Given the description of an element on the screen output the (x, y) to click on. 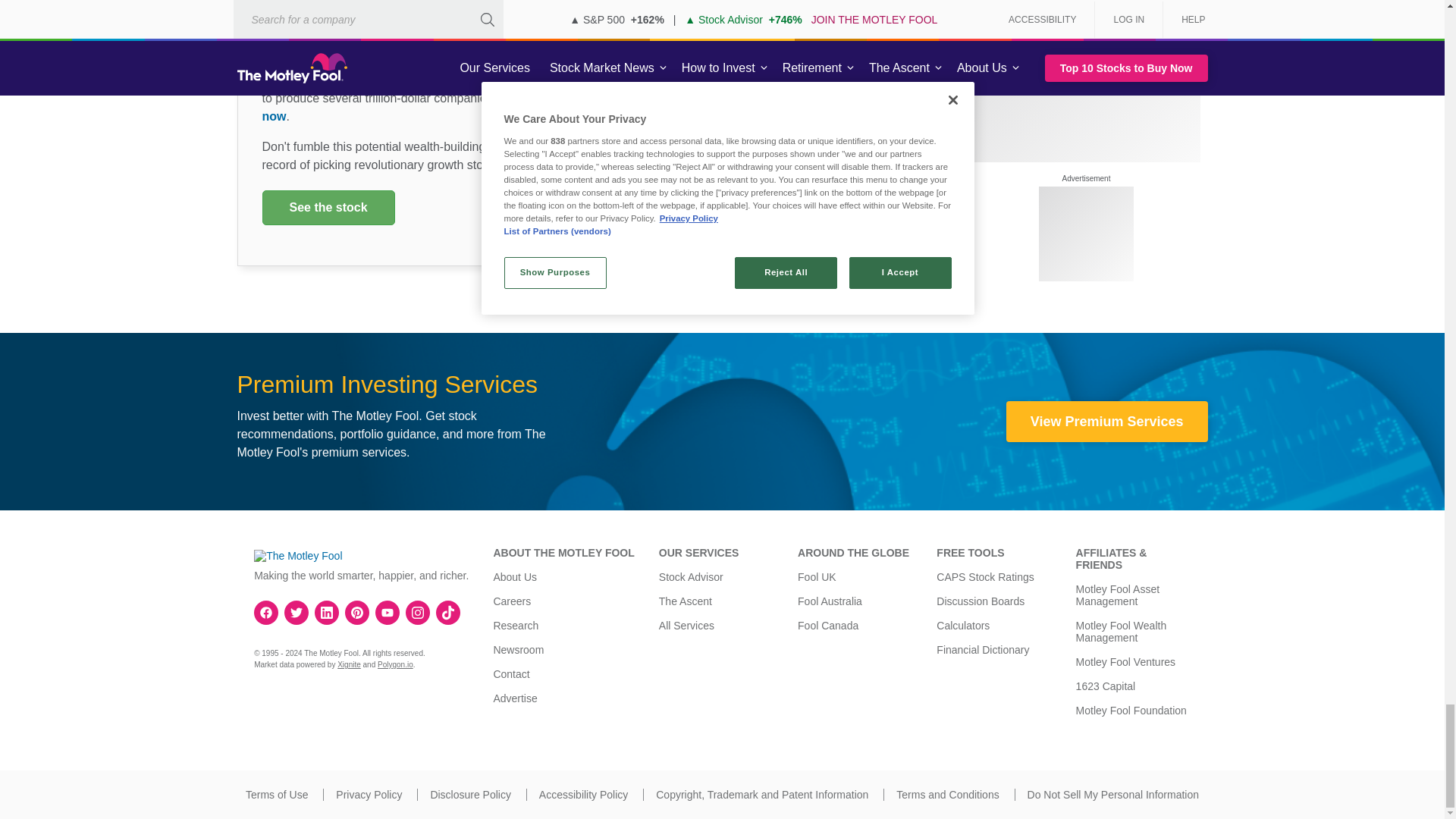
Terms and Conditions (947, 794)
Privacy Policy (368, 794)
Terms of Use (276, 794)
Copyright, Trademark and Patent Information (761, 794)
Accessibility Policy (582, 794)
Do Not Sell My Personal Information. (1112, 794)
Disclosure Policy (470, 794)
